Given the description of an element on the screen output the (x, y) to click on. 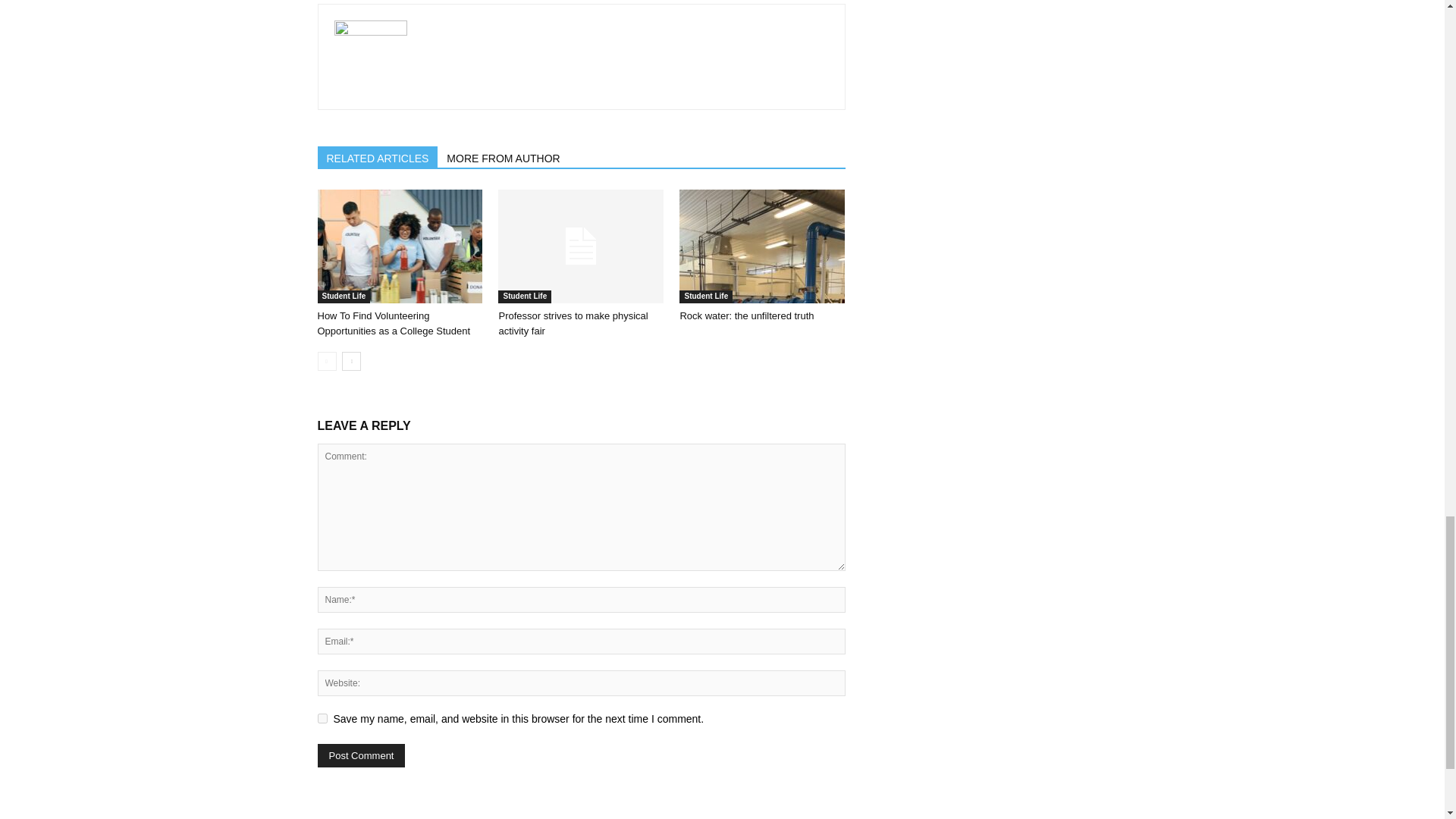
Post Comment (360, 755)
How To Find Volunteering Opportunities as a College Student (393, 323)
How To Find Volunteering Opportunities as a College Student (399, 246)
yes (321, 718)
Professor strives to make physical activity fair (580, 246)
Rock water: the unfiltered truth (761, 246)
Professor strives to make physical activity fair (572, 323)
